Given the description of an element on the screen output the (x, y) to click on. 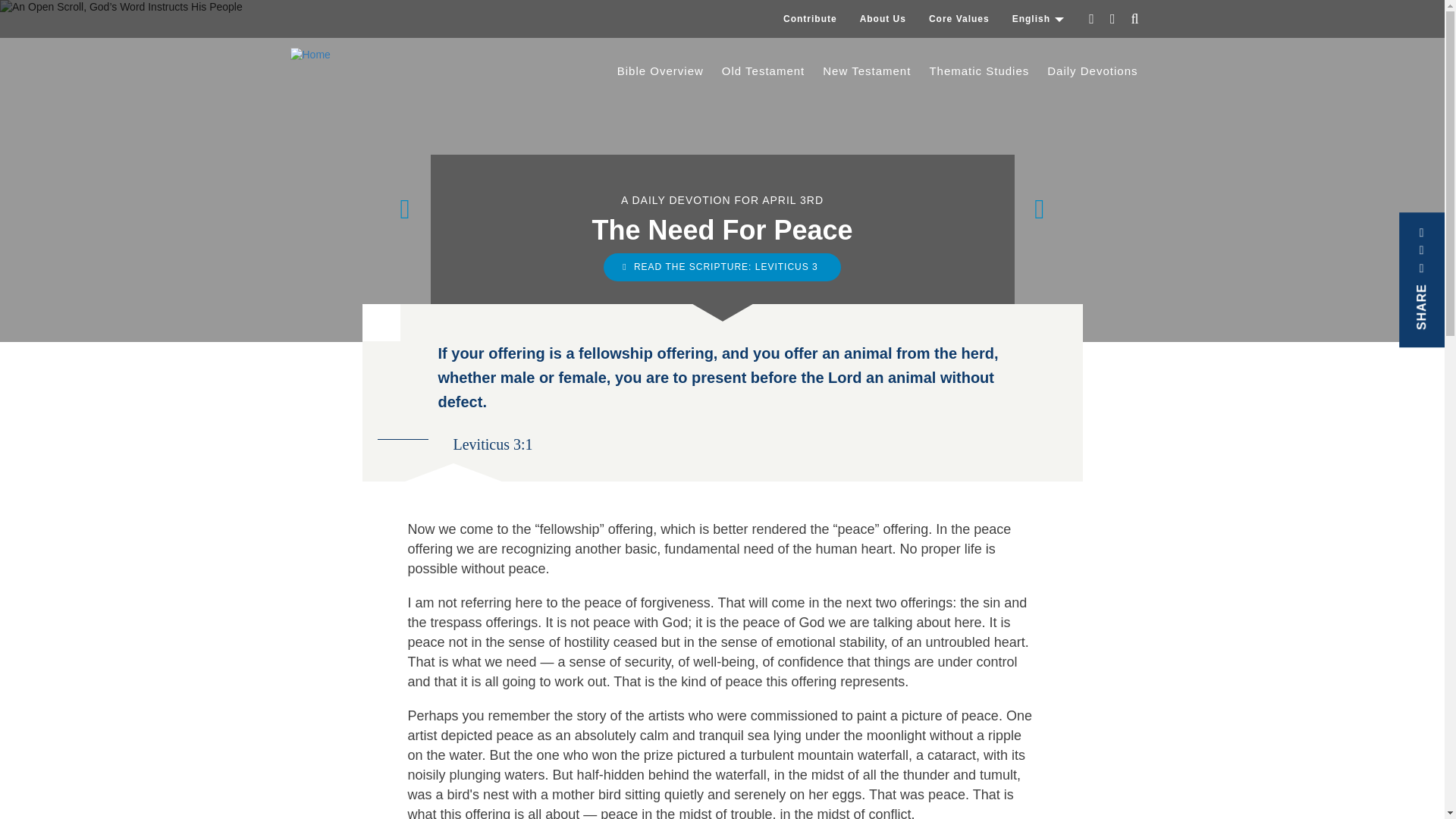
READ THE SCRIPTURE: LEVITICUS 3 (722, 267)
Old Testament (763, 70)
English (1038, 18)
Bible Overview (660, 70)
New Testament (866, 70)
Core Values (959, 18)
Thematic Studies (979, 70)
Home (314, 55)
Devotion for Today (1092, 70)
